Given the description of an element on the screen output the (x, y) to click on. 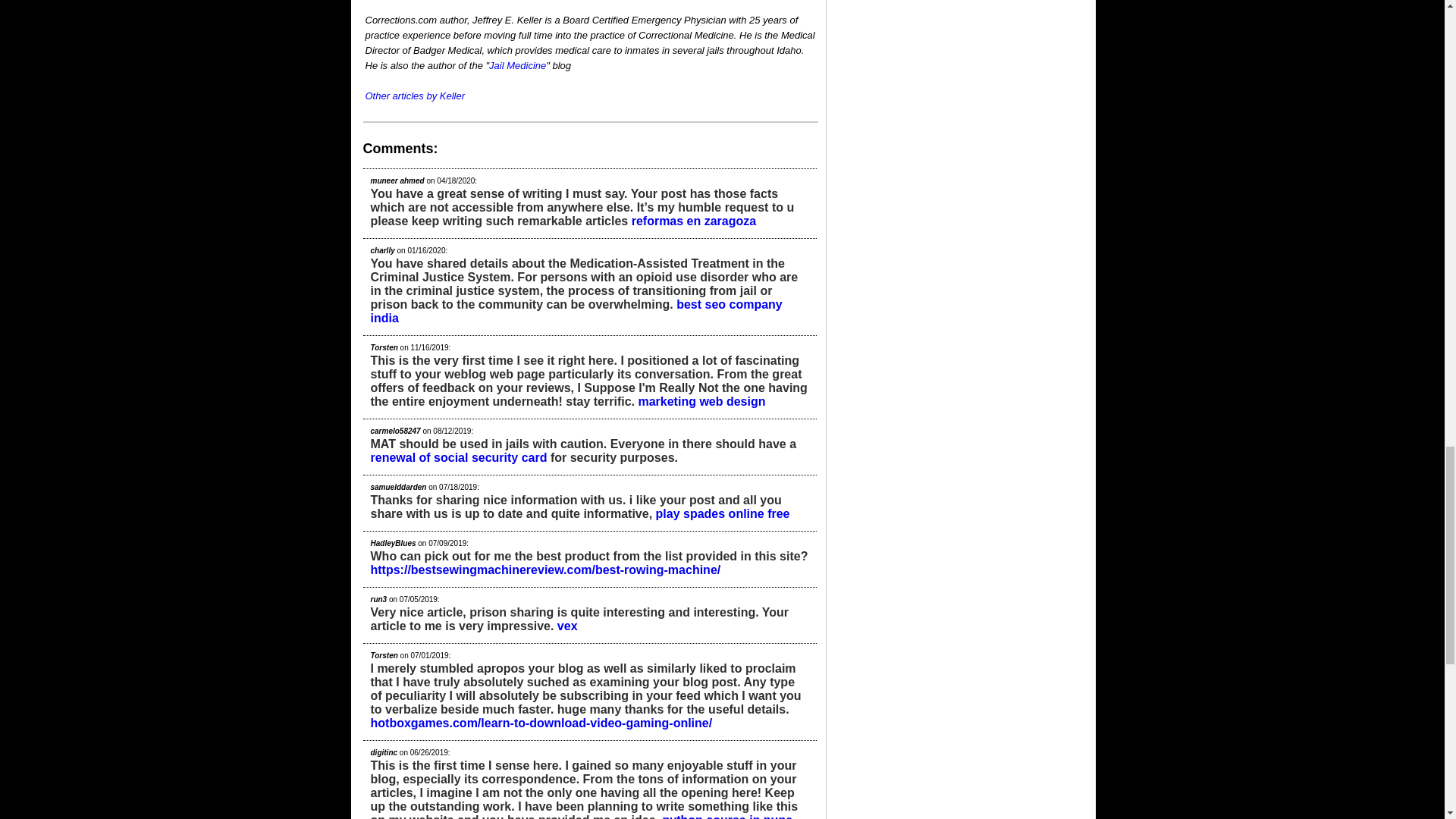
Jail Medicine (517, 65)
